Given the description of an element on the screen output the (x, y) to click on. 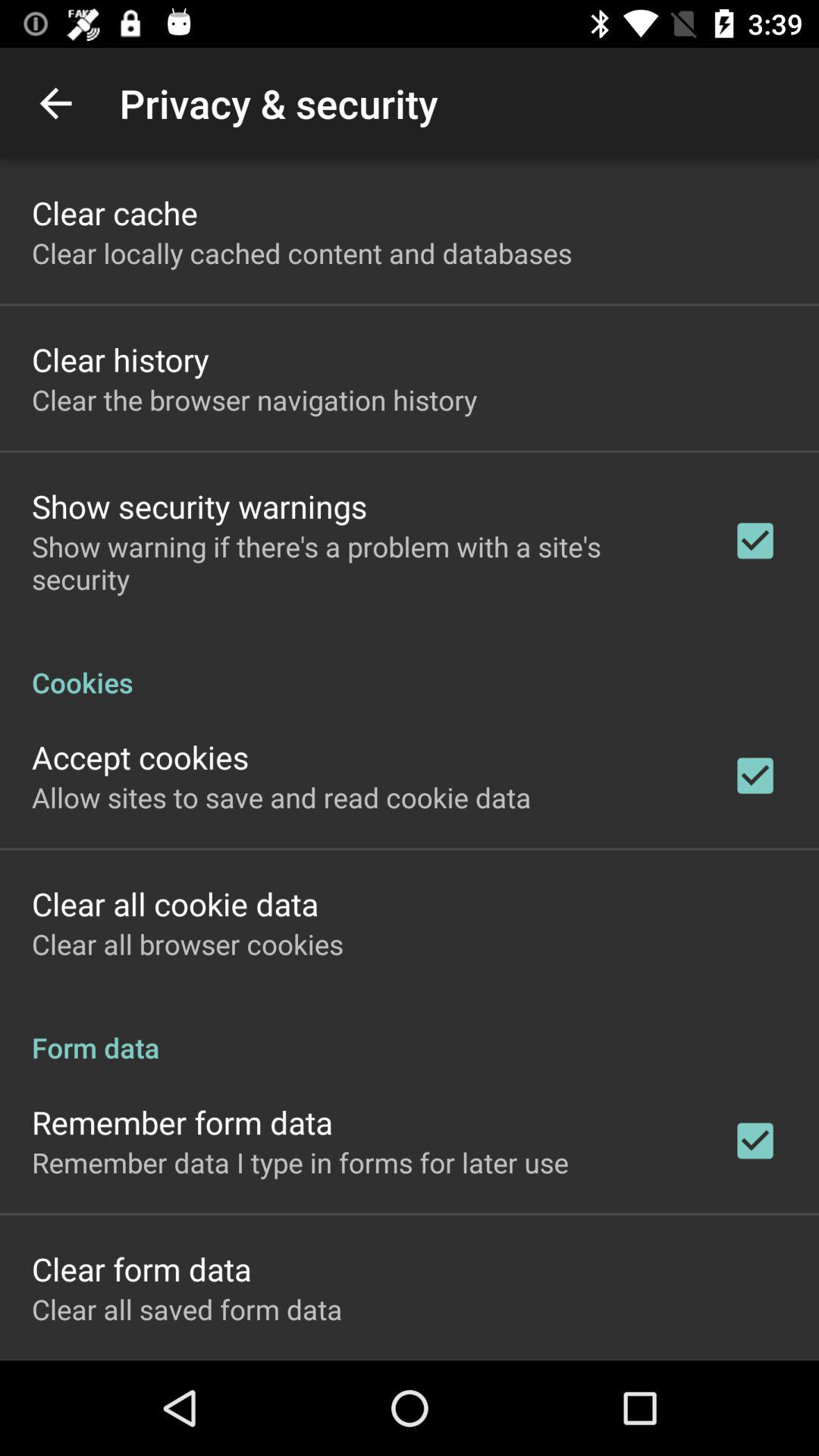
launch the clear cache (114, 212)
